Given the description of an element on the screen output the (x, y) to click on. 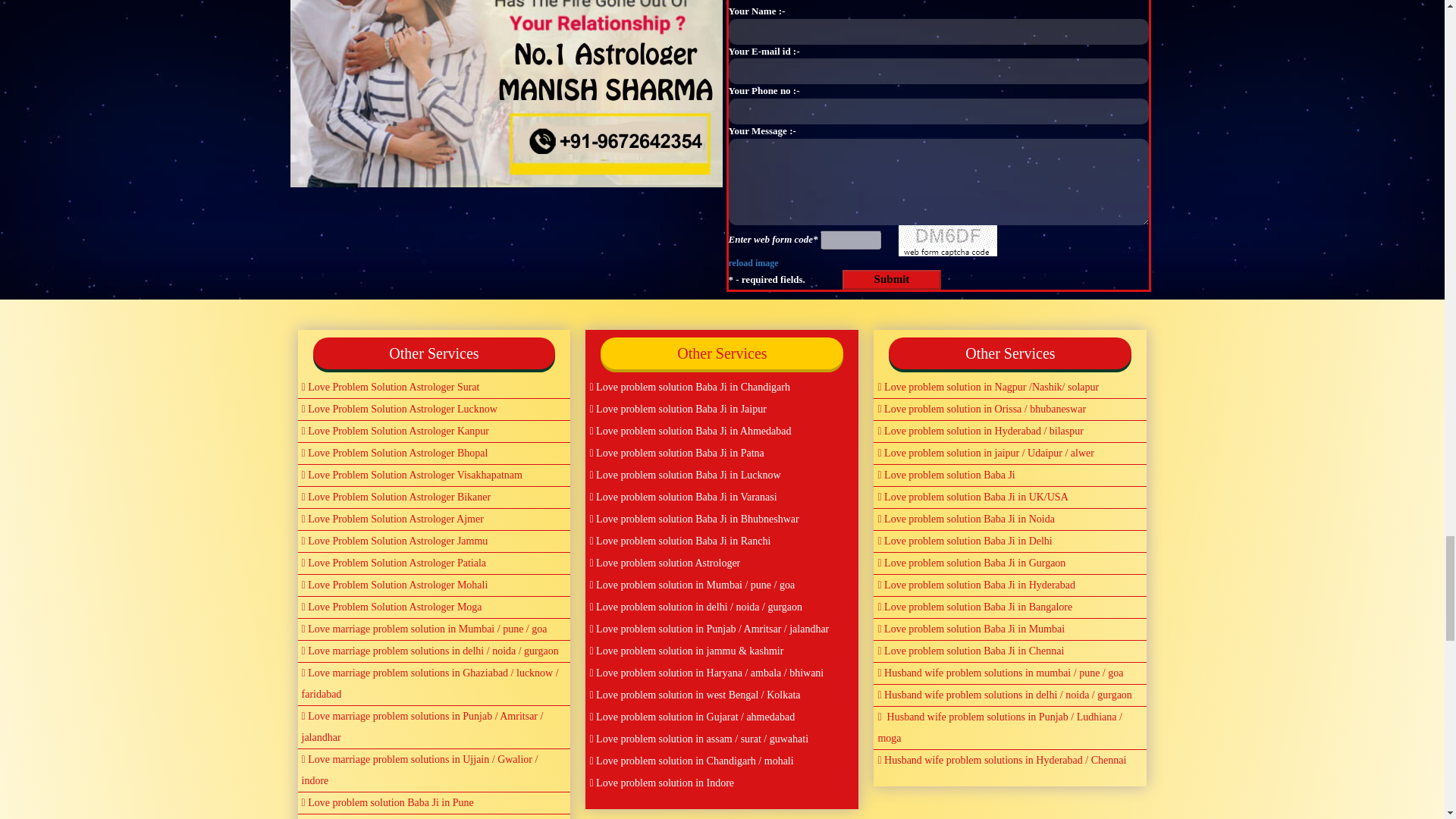
 Love Problem Solution Astrologer Bikaner (433, 497)
 Love Problem Solution Astrologer Surat (433, 387)
 Love Problem Solution Astrologer Moga (433, 608)
Submit (892, 279)
 Love Problem Solution Astrologer Kanpur (433, 431)
Submit (892, 279)
 Love Problem Solution Astrologer Mohali (433, 585)
 Love Problem Solution Astrologer Ajmer (433, 519)
 Love Problem Solution Astrologer Patiala (433, 563)
 Love Problem Solution Astrologer Lucknow (433, 409)
 Love Problem Solution Astrologer Jammu (433, 541)
 Love Problem Solution Astrologer Visakhapatnam (433, 475)
 Love problem solution Baba Ji in Kolkata (433, 816)
 Love problem solution Baba Ji in Pune (433, 803)
reload image (752, 262)
